Given the description of an element on the screen output the (x, y) to click on. 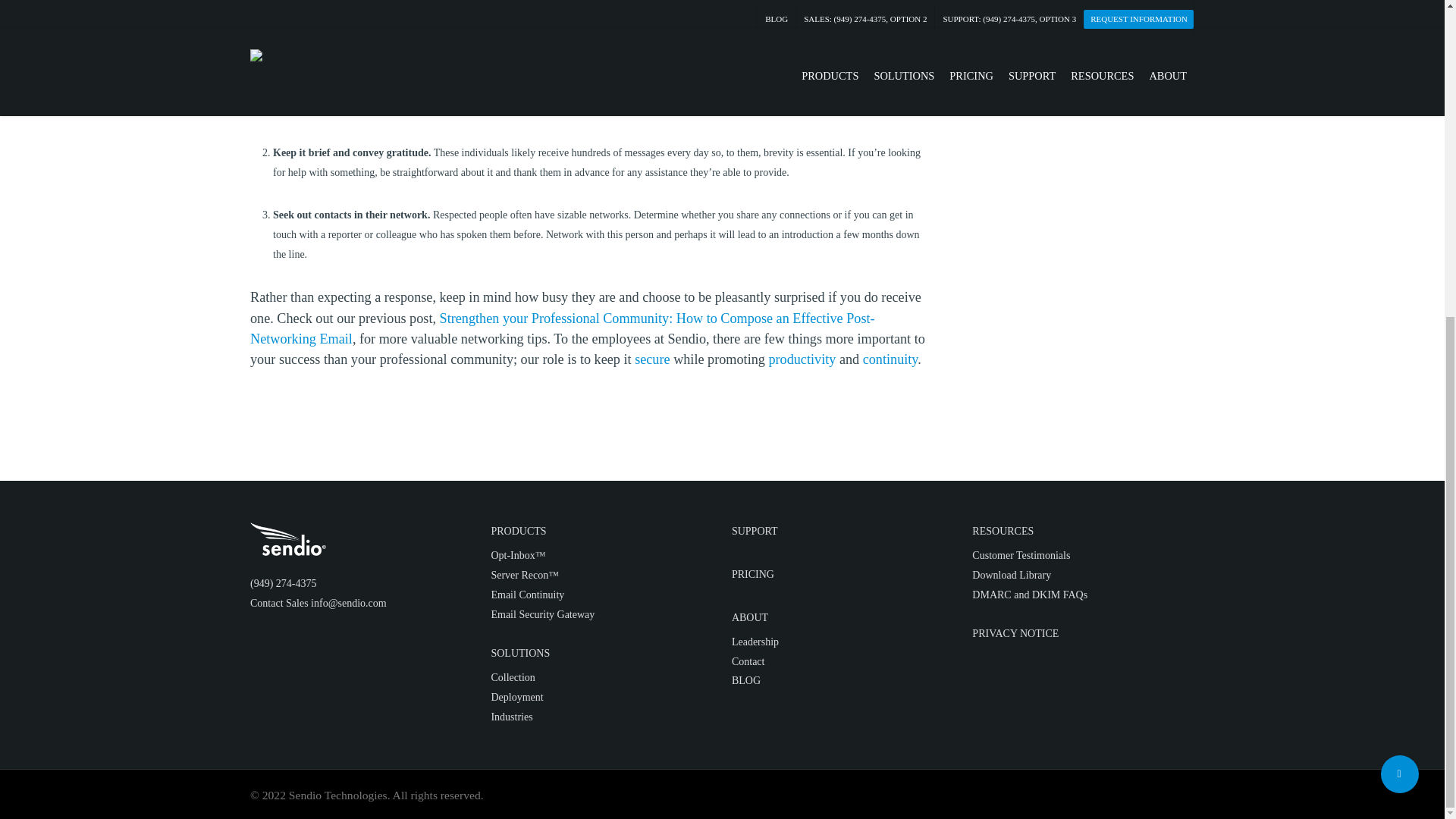
Productivity (801, 359)
Collection (512, 677)
ABOUT (750, 617)
secure (651, 359)
Deployment (516, 696)
Security (651, 359)
SOLUTIONS (520, 653)
Strengthen your Professional Network (562, 328)
PRODUCTS (518, 531)
Continuity (890, 359)
PRICING (753, 573)
Email Security Gateway (542, 614)
Email Continuity (527, 594)
continuity (890, 359)
